Given the description of an element on the screen output the (x, y) to click on. 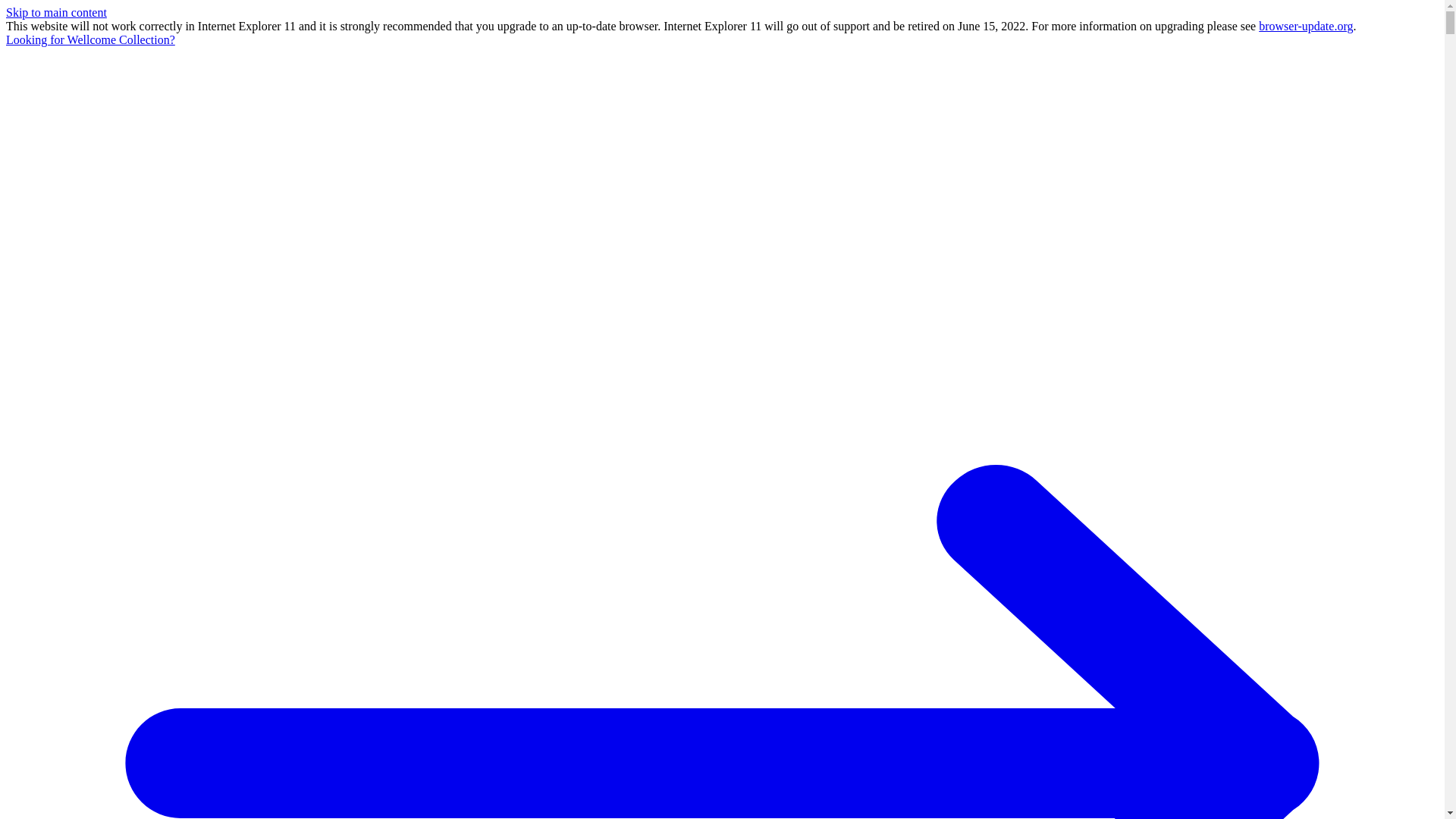
browser-update.org (1305, 25)
Skip to main content (55, 11)
